Given the description of an element on the screen output the (x, y) to click on. 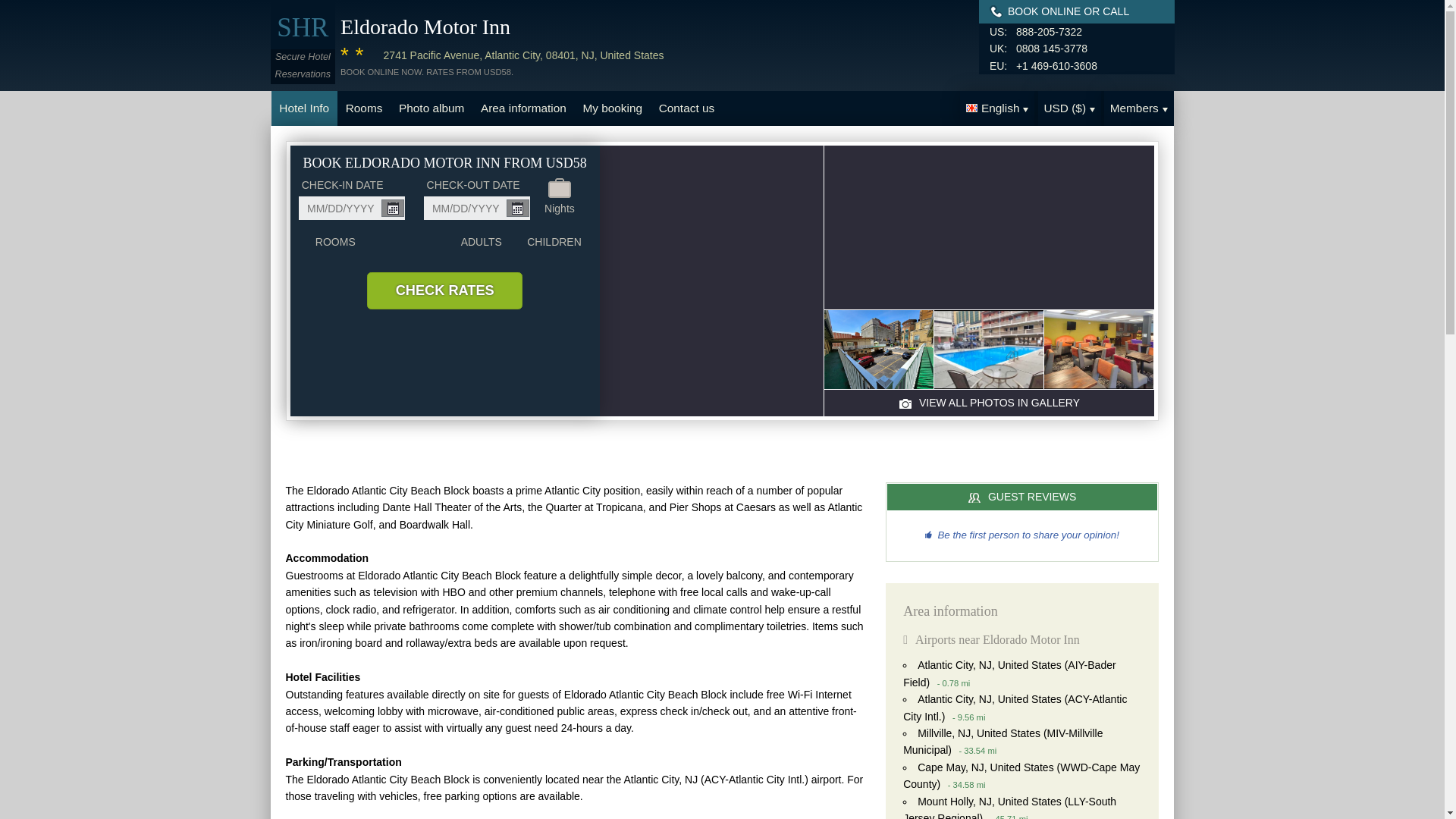
My booking (612, 107)
Hotel Info (303, 107)
Area information (522, 107)
Rooms (363, 107)
Contact us (686, 107)
